Given the description of an element on the screen output the (x, y) to click on. 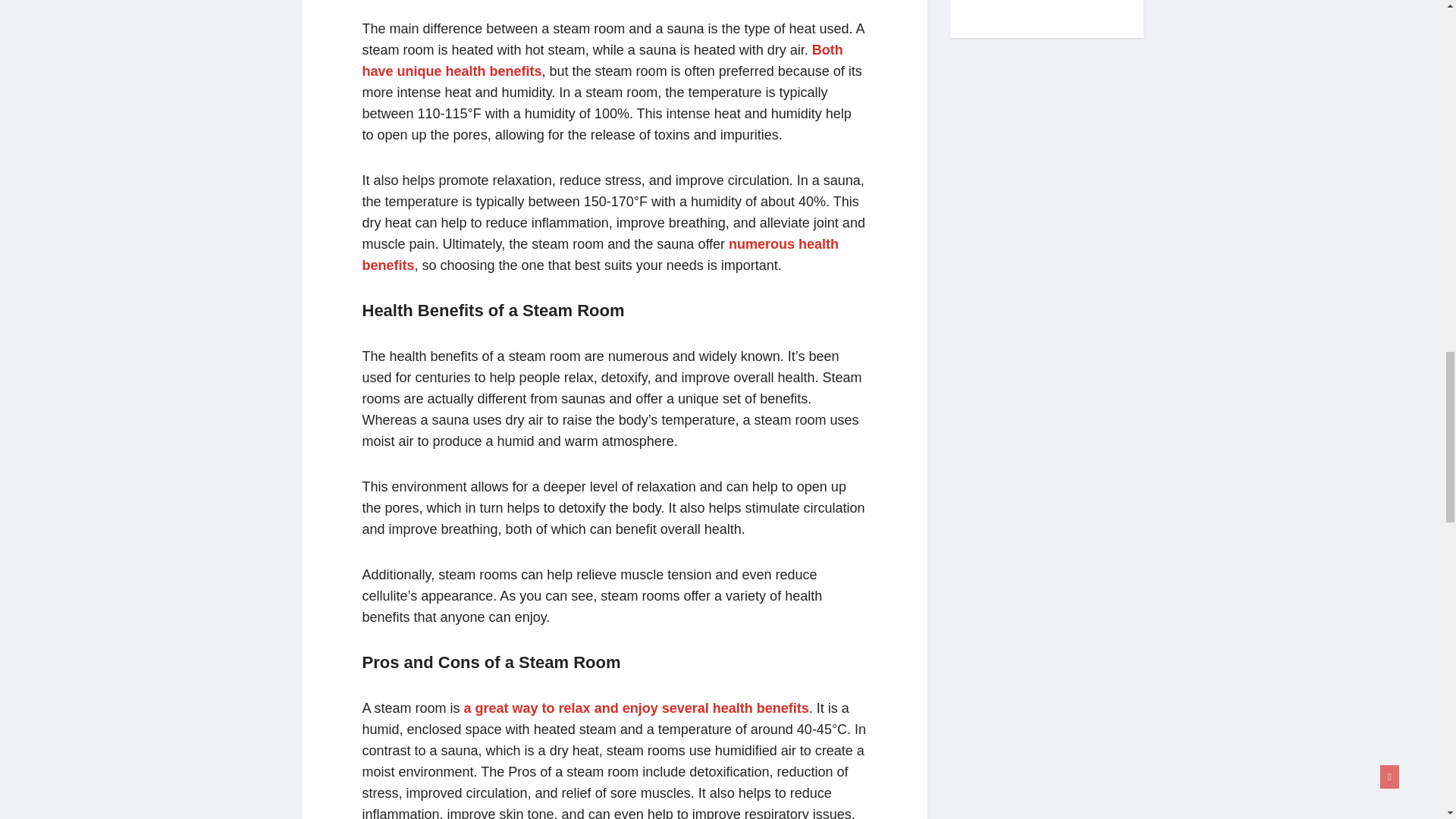
Both have unique health benefits (602, 60)
a great way to relax and enjoy several health benefits (636, 708)
numerous health benefits (601, 254)
